Given the description of an element on the screen output the (x, y) to click on. 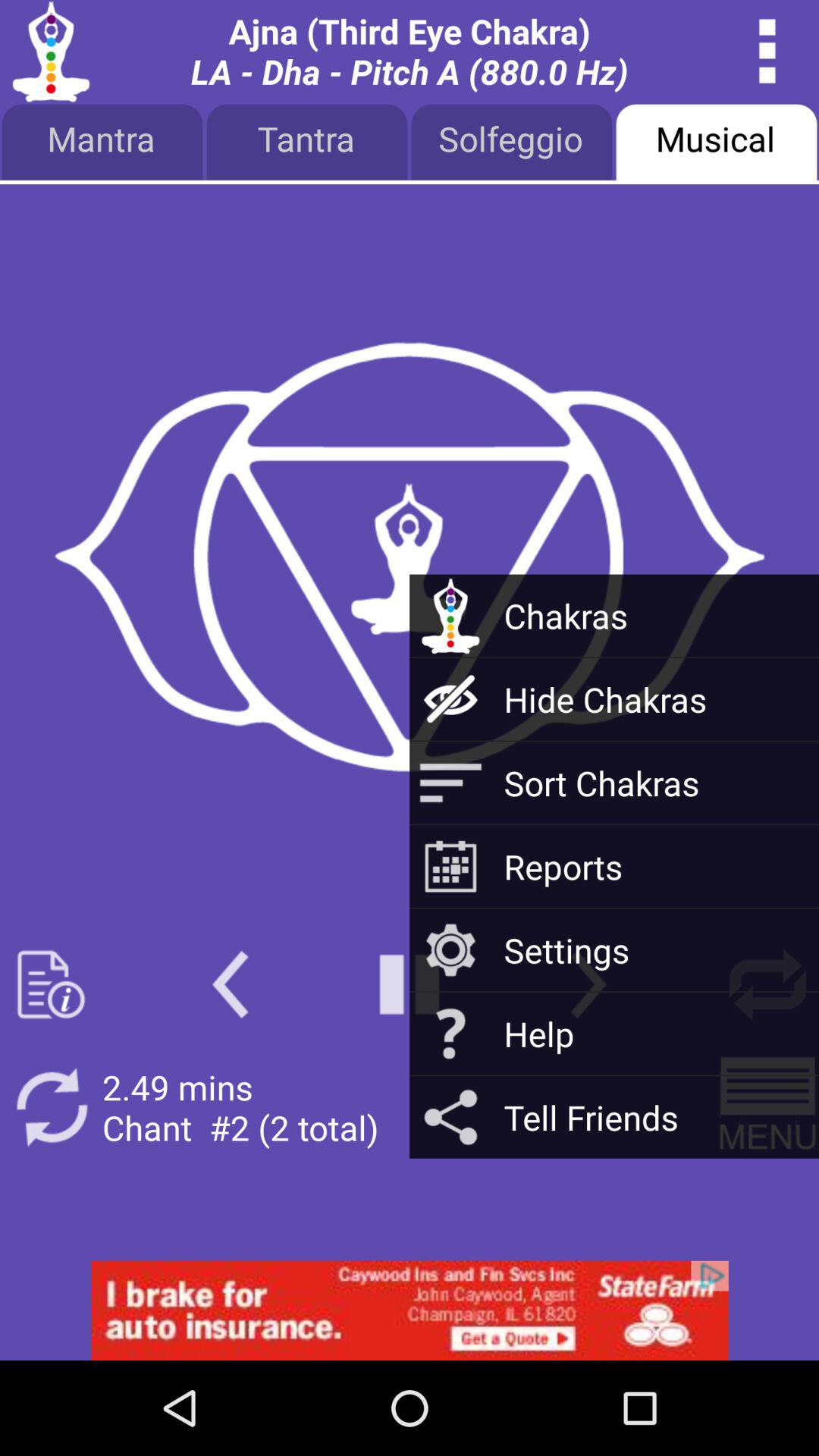
play option (409, 984)
